Given the description of an element on the screen output the (x, y) to click on. 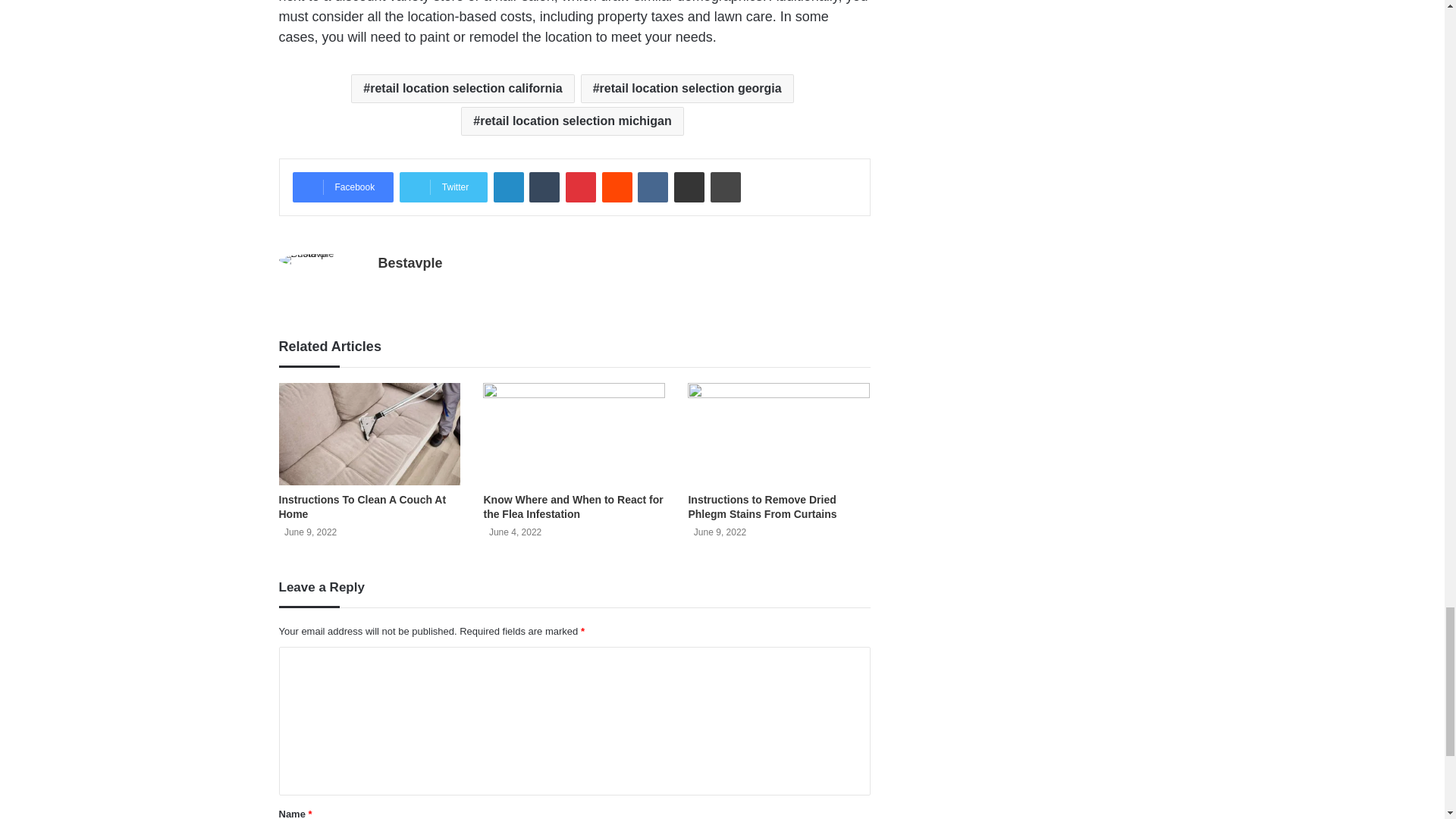
Bestavple (409, 263)
Pinterest (580, 186)
retail location selection michigan (571, 121)
Share via Email (689, 186)
LinkedIn (508, 186)
Tumblr (544, 186)
Tumblr (544, 186)
LinkedIn (508, 186)
Pinterest (580, 186)
Twitter (442, 186)
